Given the description of an element on the screen output the (x, y) to click on. 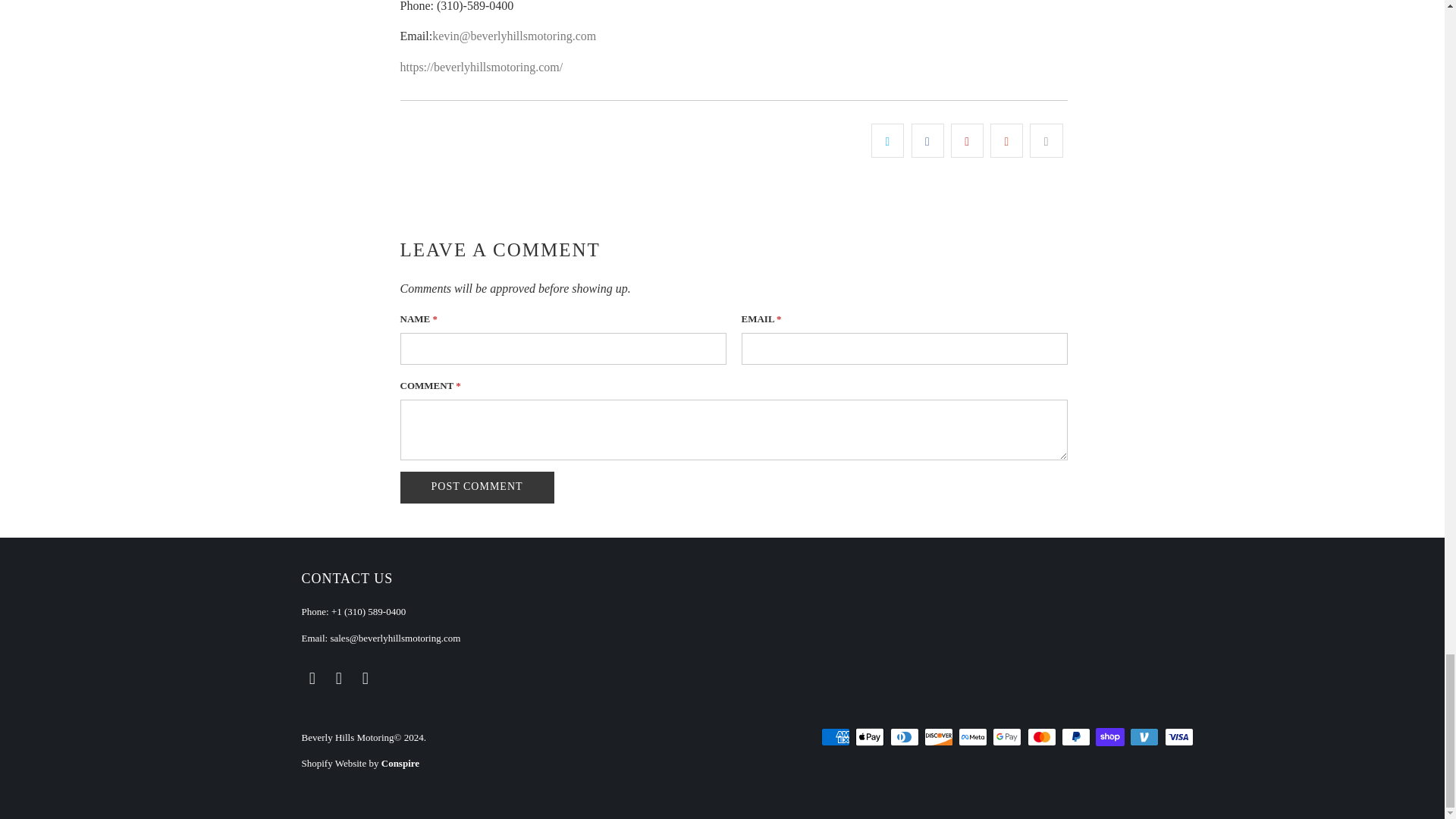
Share this on Twitter (887, 140)
Post comment (477, 487)
Email this to a friend (1045, 140)
Share this on Facebook (927, 140)
Post comment (477, 487)
Share this on Pinterest (967, 140)
